Given the description of an element on the screen output the (x, y) to click on. 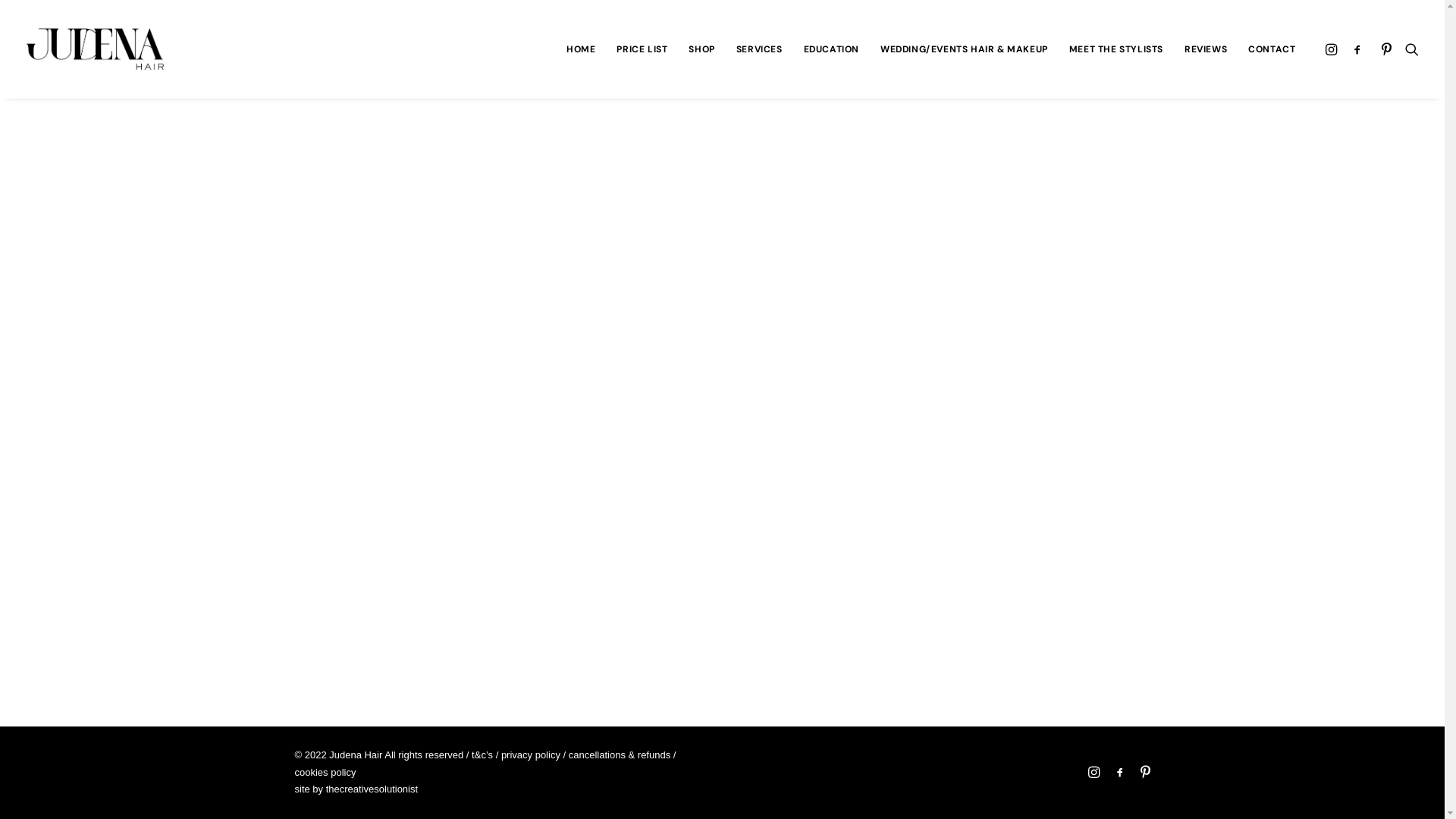
SHOP Element type: text (700, 48)
EDUCATION Element type: text (831, 48)
privacy policy Element type: text (530, 754)
MEET THE STYLISTS Element type: text (1115, 48)
CONTACT Element type: text (1266, 48)
thecreativesolutionist Element type: text (371, 788)
PRICE LIST Element type: text (641, 48)
cancellations & refunds Element type: text (619, 754)
HOME Element type: text (580, 48)
SERVICES Element type: text (759, 48)
cookies policy Element type: text (324, 771)
WEDDING/EVENTS HAIR & MAKEUP Element type: text (963, 48)
REVIEWS Element type: text (1205, 48)
